Given the description of an element on the screen output the (x, y) to click on. 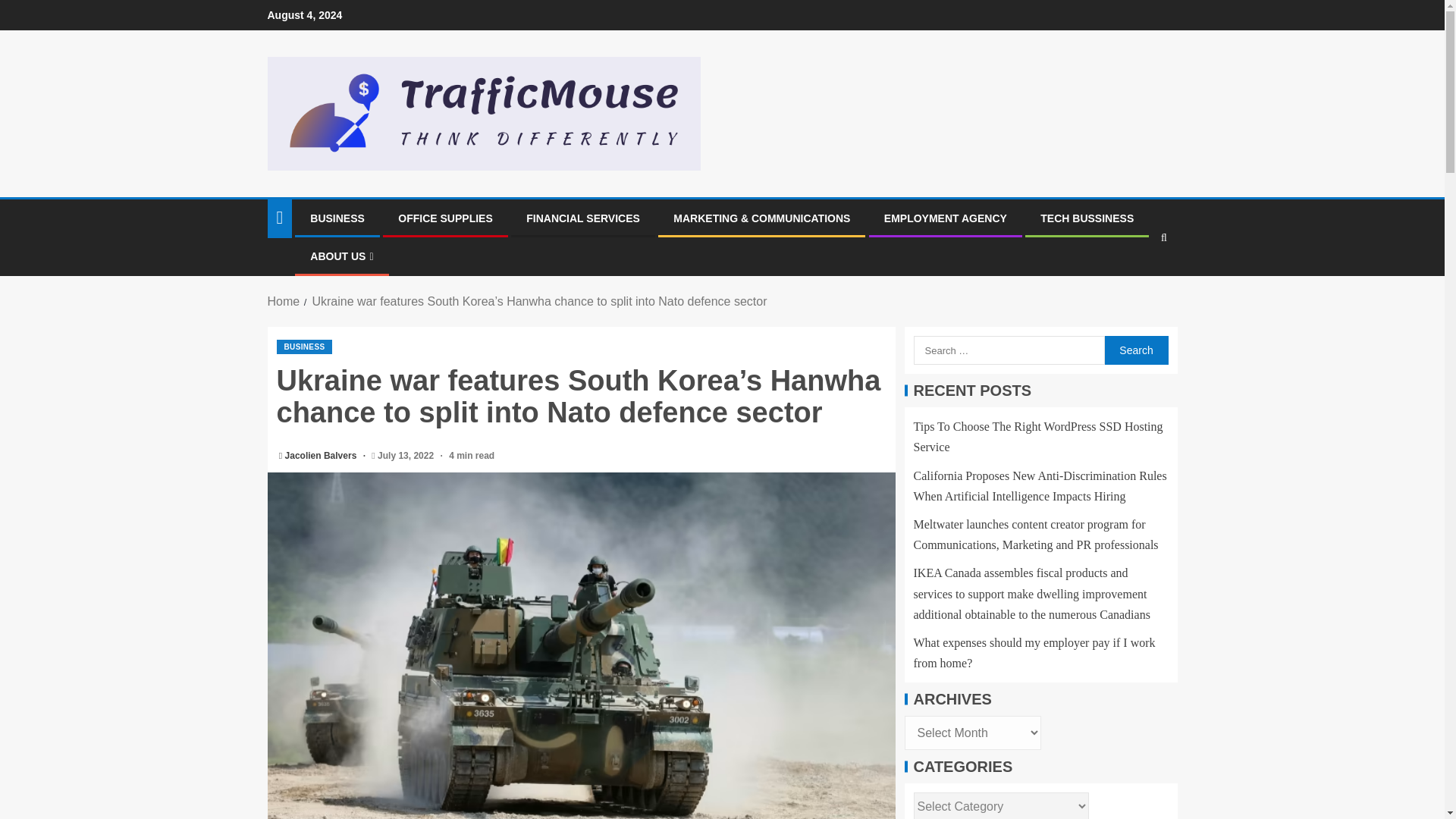
OFFICE SUPPLIES (444, 218)
Jacolien Balvers (322, 455)
Search (1135, 349)
ABOUT US (341, 256)
EMPLOYMENT AGENCY (945, 218)
FINANCIAL SERVICES (582, 218)
Search (1133, 284)
BUSINESS (303, 346)
Search (1135, 349)
Home (282, 300)
TECH BUSSINESS (1087, 218)
BUSINESS (337, 218)
